Given the description of an element on the screen output the (x, y) to click on. 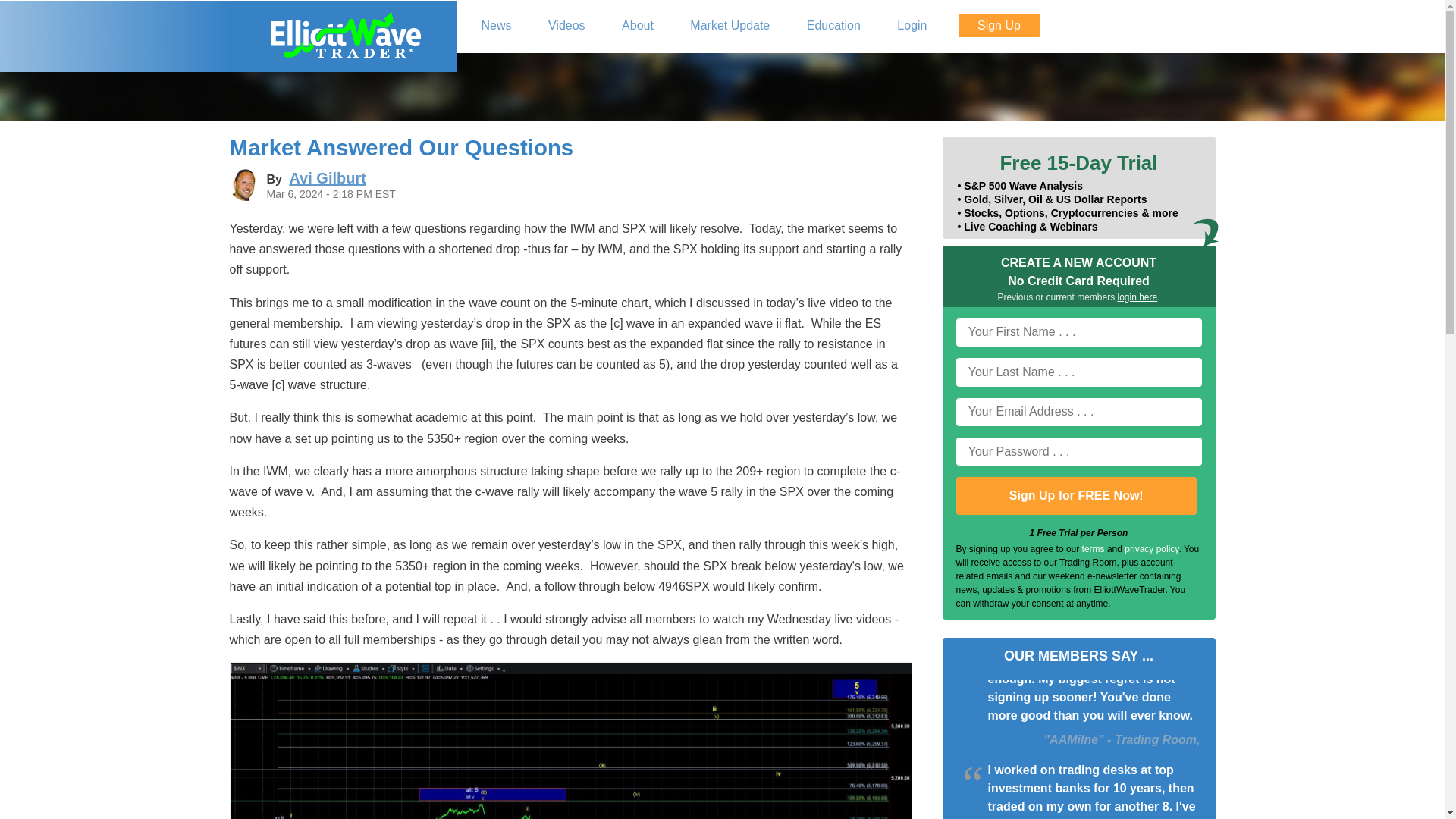
Login (911, 25)
Sign Up (998, 24)
Avi Gilburt (326, 177)
terms (1093, 548)
Sign Up to become a Member! (998, 24)
Sign Up for FREE Now! (1075, 495)
Your Email Address (1078, 411)
Your Last Name (1078, 371)
About ElliottWaveTrader (637, 25)
Elliott Wave Education (834, 25)
Education (834, 25)
Sign Up for FREE Now! (1075, 495)
About (637, 25)
Your First Name (1078, 332)
privacy policy (1150, 548)
